Given the description of an element on the screen output the (x, y) to click on. 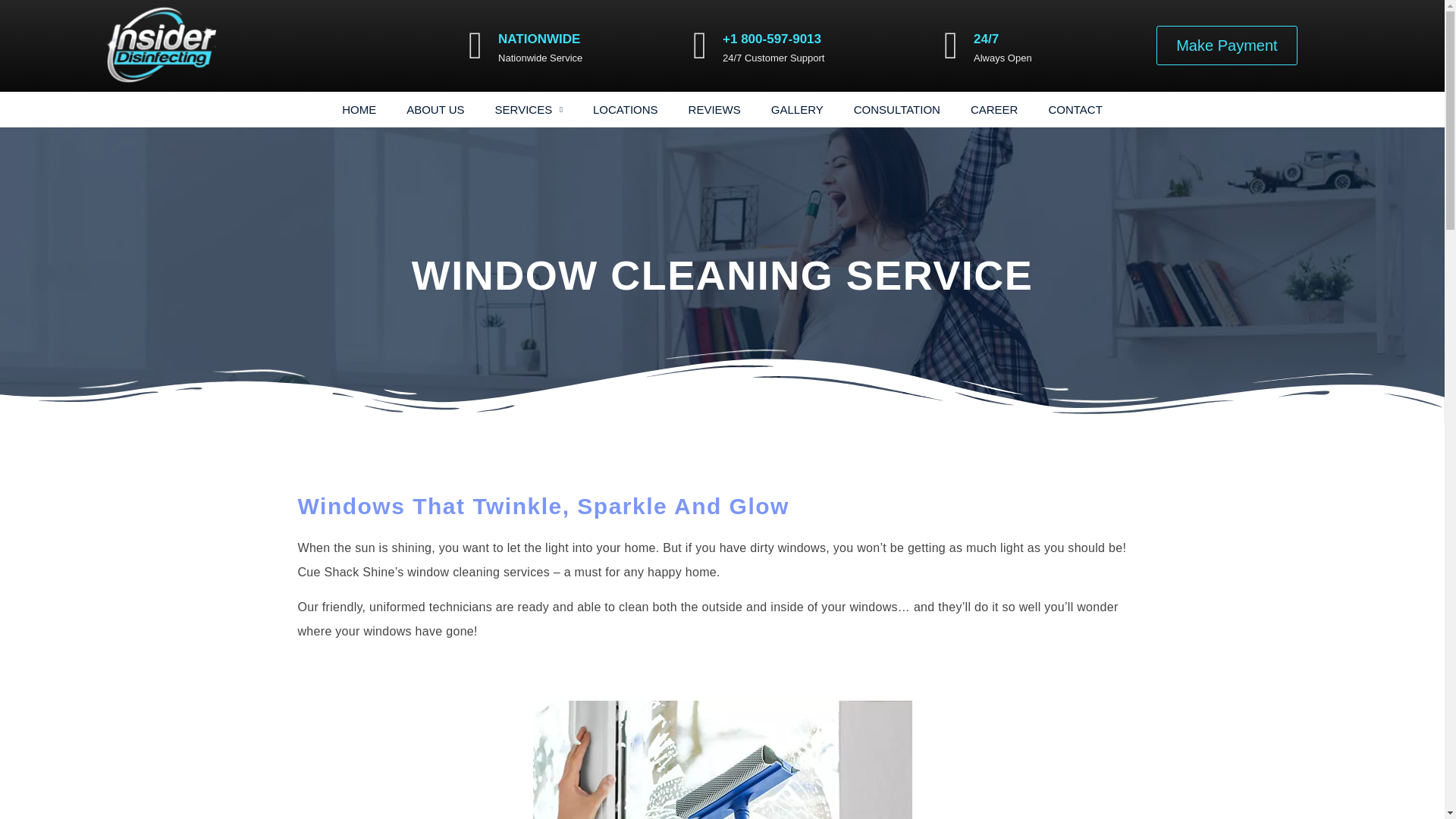
REVIEWS (713, 109)
SERVICES (529, 109)
GALLERY (796, 109)
CONTACT (1074, 109)
Make Payment (1226, 45)
HOME (358, 109)
CAREER (994, 109)
LOCATIONS (625, 109)
ABOUT US (435, 109)
CONSULTATION (896, 109)
